Given the description of an element on the screen output the (x, y) to click on. 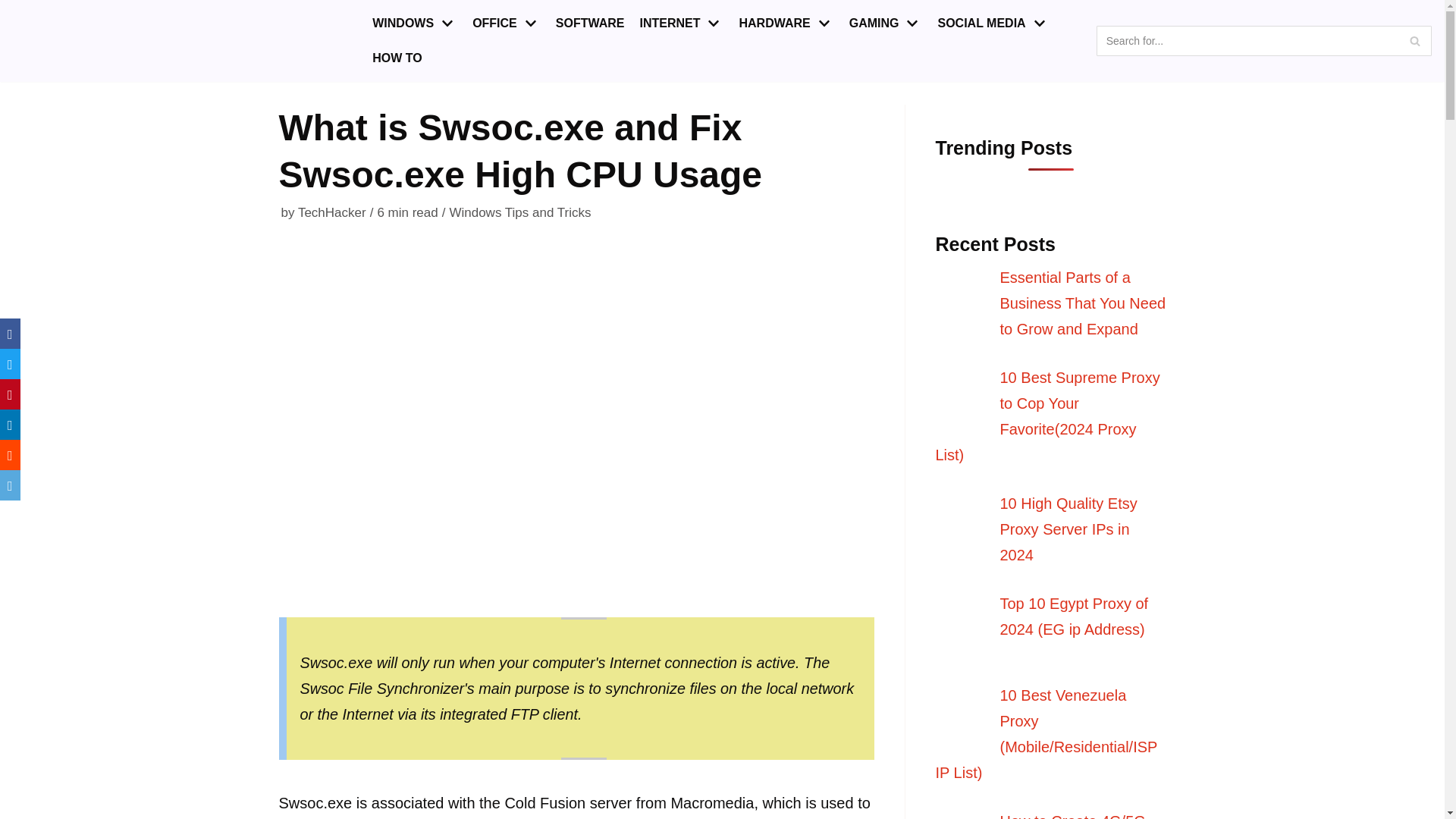
INTERNET (681, 23)
HOW TO (397, 57)
GAMING (885, 23)
Skip to content (15, 7)
OFFICE (505, 23)
WINDOWS (414, 23)
HARDWARE (785, 23)
SOCIAL MEDIA (992, 23)
Free PC Tech (79, 40)
SOFTWARE (590, 23)
Posts by TechHacker (332, 212)
